Given the description of an element on the screen output the (x, y) to click on. 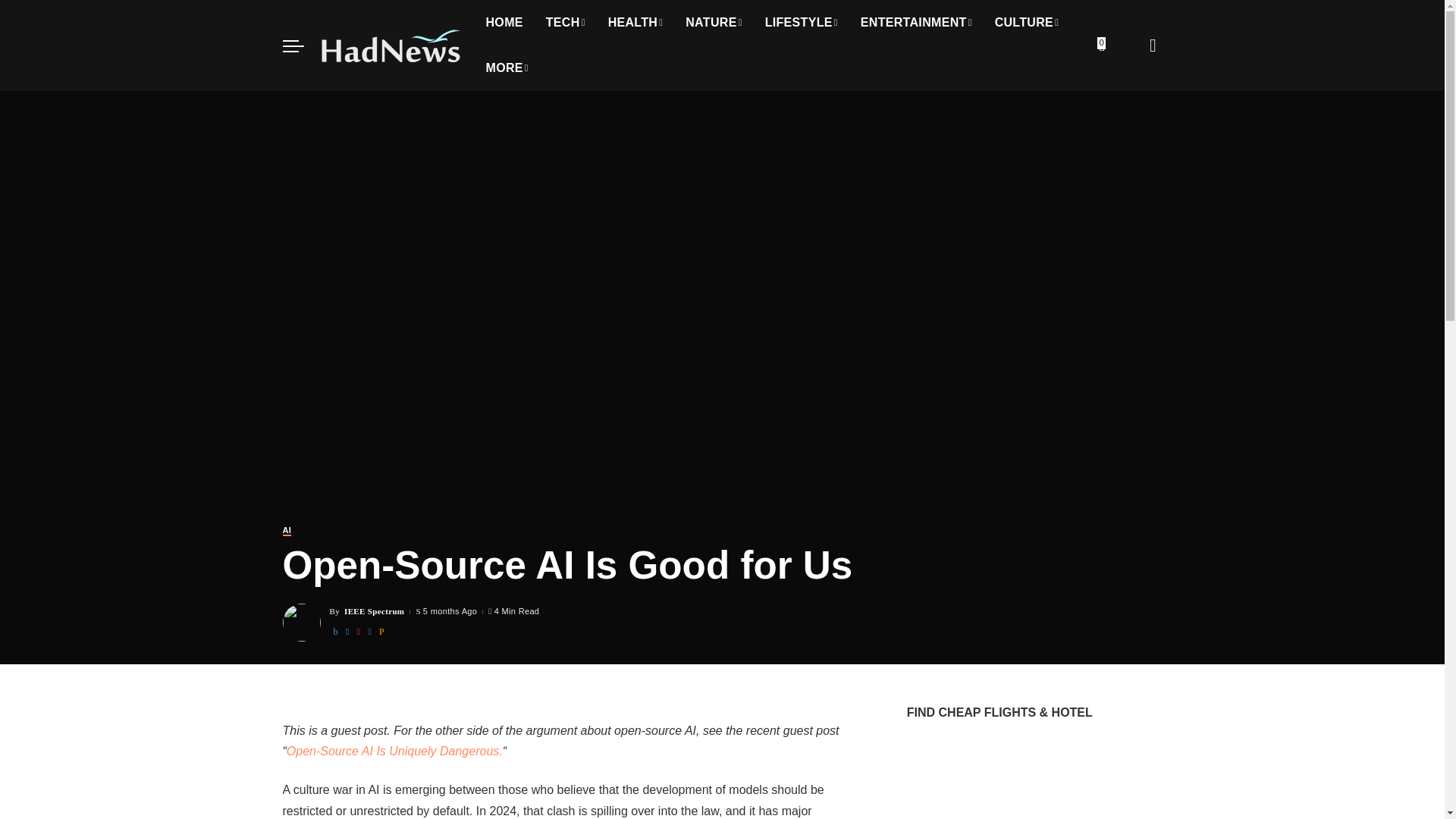
HadNews.com (390, 44)
